Given the description of an element on the screen output the (x, y) to click on. 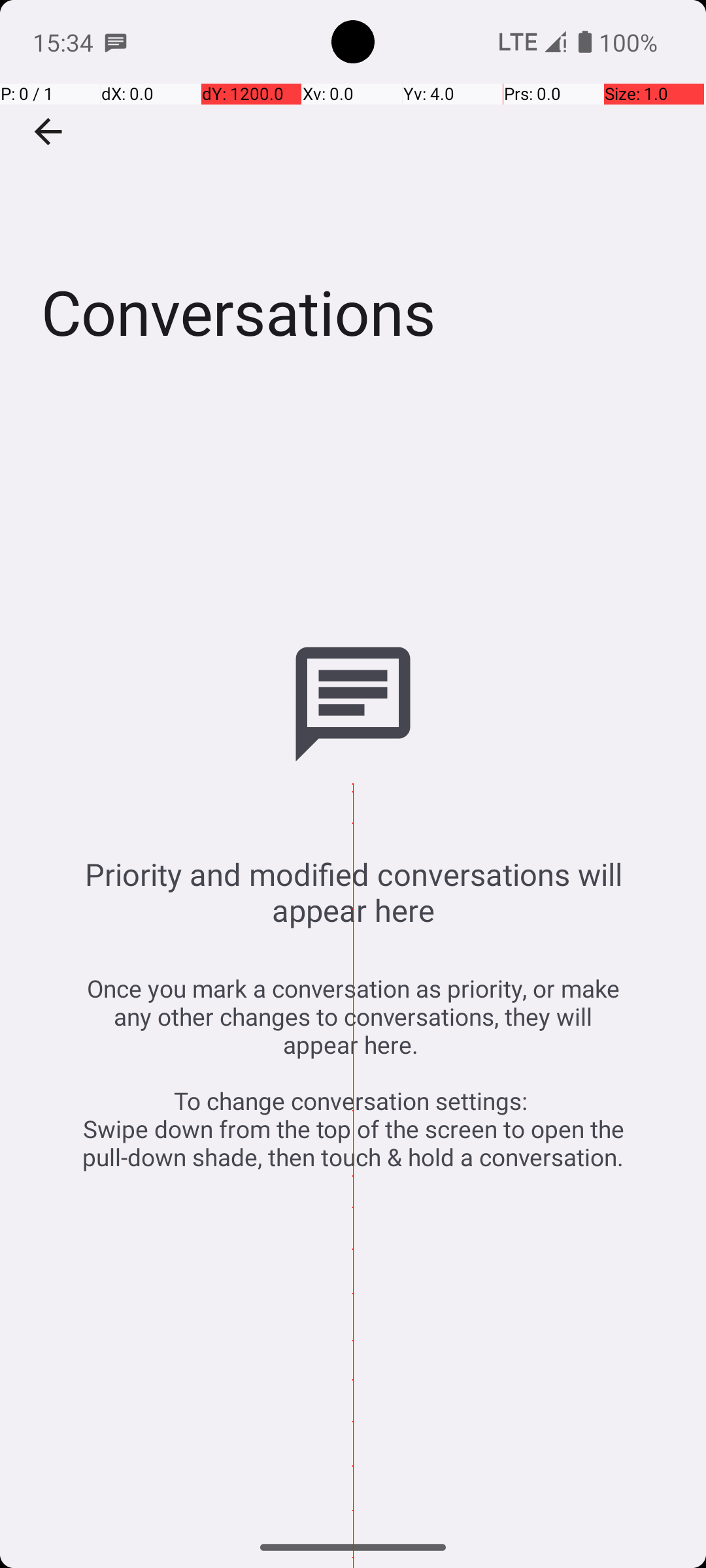
Priority and modified conversations will appear here Element type: android.widget.TextView (352, 891)
Once you mark a conversation as priority, or make any other changes to conversations, they will appear here. 

To change conversation settings: 
Swipe down from the top of the screen to open the pull-down shade, then touch & hold a conversation. Element type: android.widget.TextView (352, 1072)
